Given the description of an element on the screen output the (x, y) to click on. 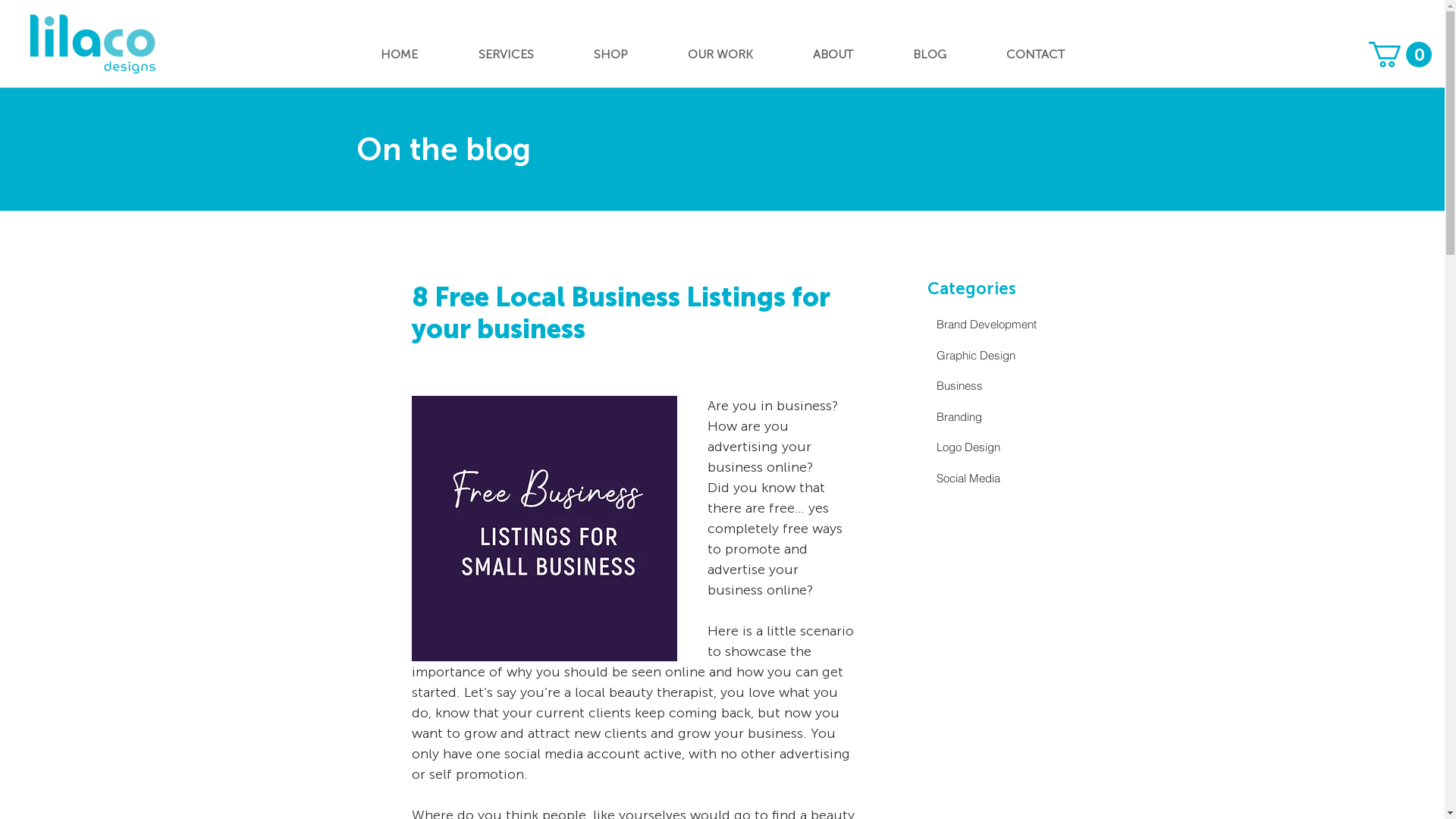
Graphic Design Element type: text (1011, 354)
Social Media Element type: text (1011, 477)
0 Element type: text (1399, 54)
SERVICES Element type: text (505, 54)
Branding Element type: text (1011, 417)
Brand Development Element type: text (1011, 324)
Business Element type: text (1011, 385)
CONTACT Element type: text (1035, 54)
Logo Design Element type: text (1011, 447)
SHOP Element type: text (611, 54)
BLOG Element type: text (928, 54)
HOME Element type: text (399, 54)
ABOUT Element type: text (832, 54)
OUR WORK Element type: text (720, 54)
